Given the description of an element on the screen output the (x, y) to click on. 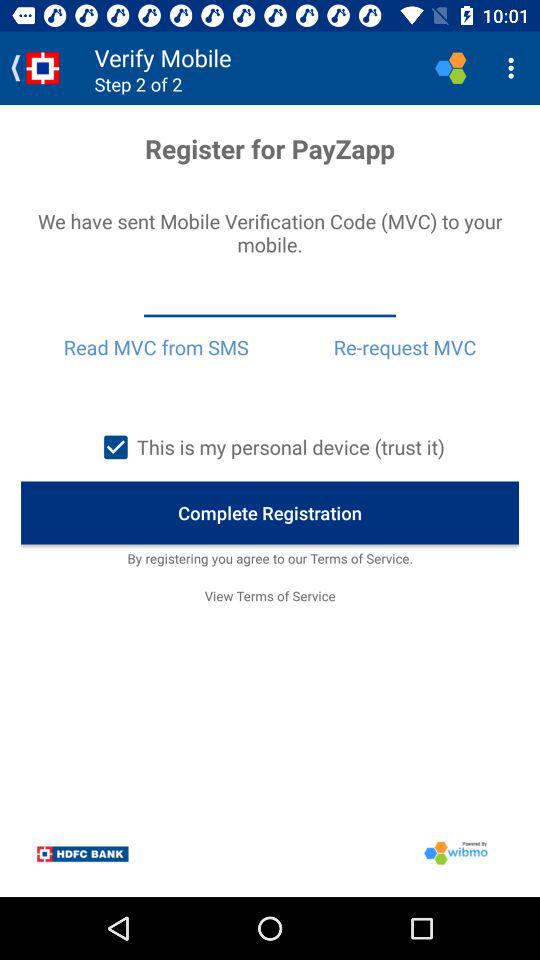
press complete registration (270, 512)
